Given the description of an element on the screen output the (x, y) to click on. 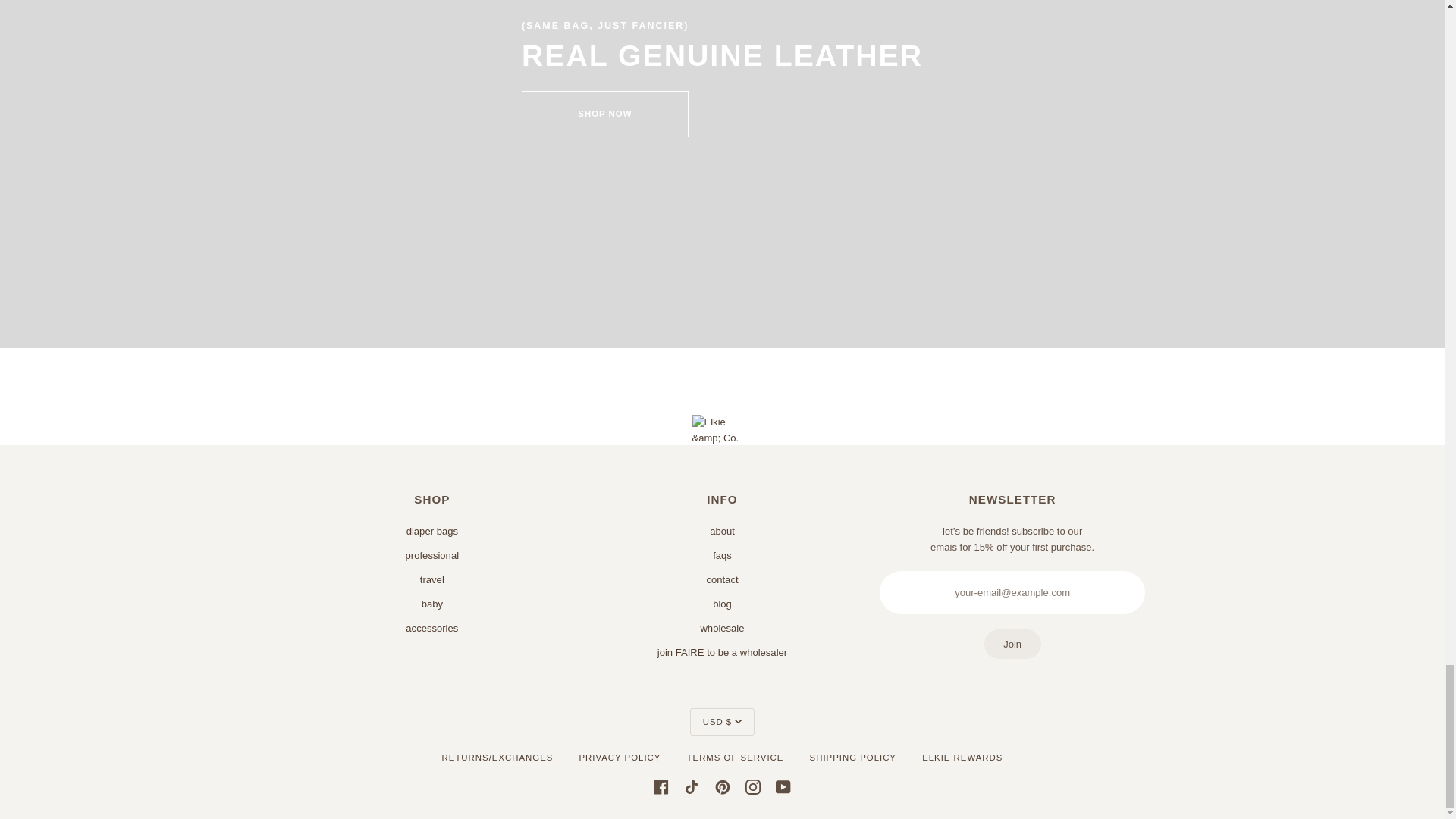
Tiktok (691, 786)
Facebook (660, 786)
YouTube (783, 786)
Pinterest (721, 786)
Instagram (752, 786)
